Given the description of an element on the screen output the (x, y) to click on. 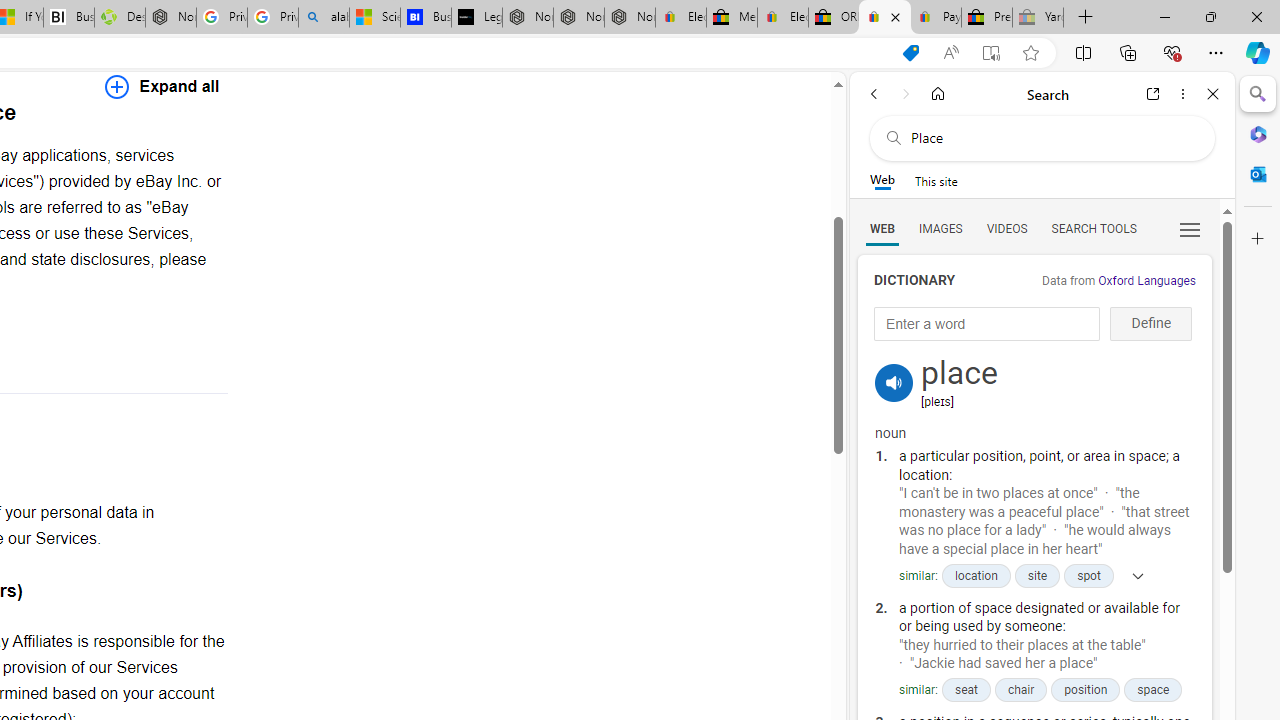
This site has coupons! Shopping in Microsoft Edge (910, 53)
Press Room - eBay Inc. (987, 17)
Open link in new tab (1153, 93)
Electronics, Cars, Fashion, Collectibles & More | eBay (782, 17)
Search the web (1051, 137)
Web scope (882, 180)
SEARCH TOOLS (1093, 228)
IMAGES (939, 228)
Enter a word (987, 323)
